Given the description of an element on the screen output the (x, y) to click on. 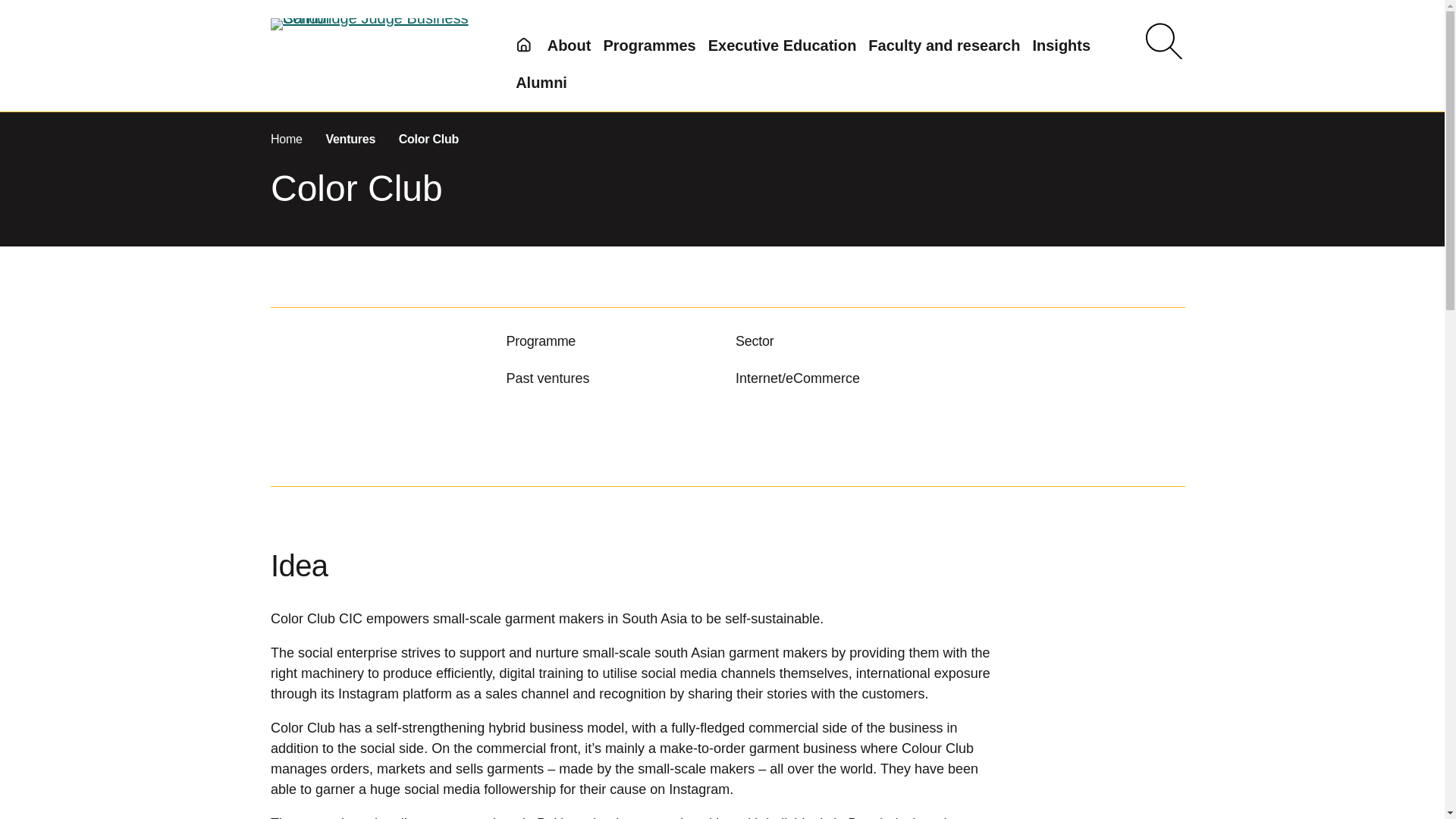
Home (287, 138)
About (568, 45)
